Given the description of an element on the screen output the (x, y) to click on. 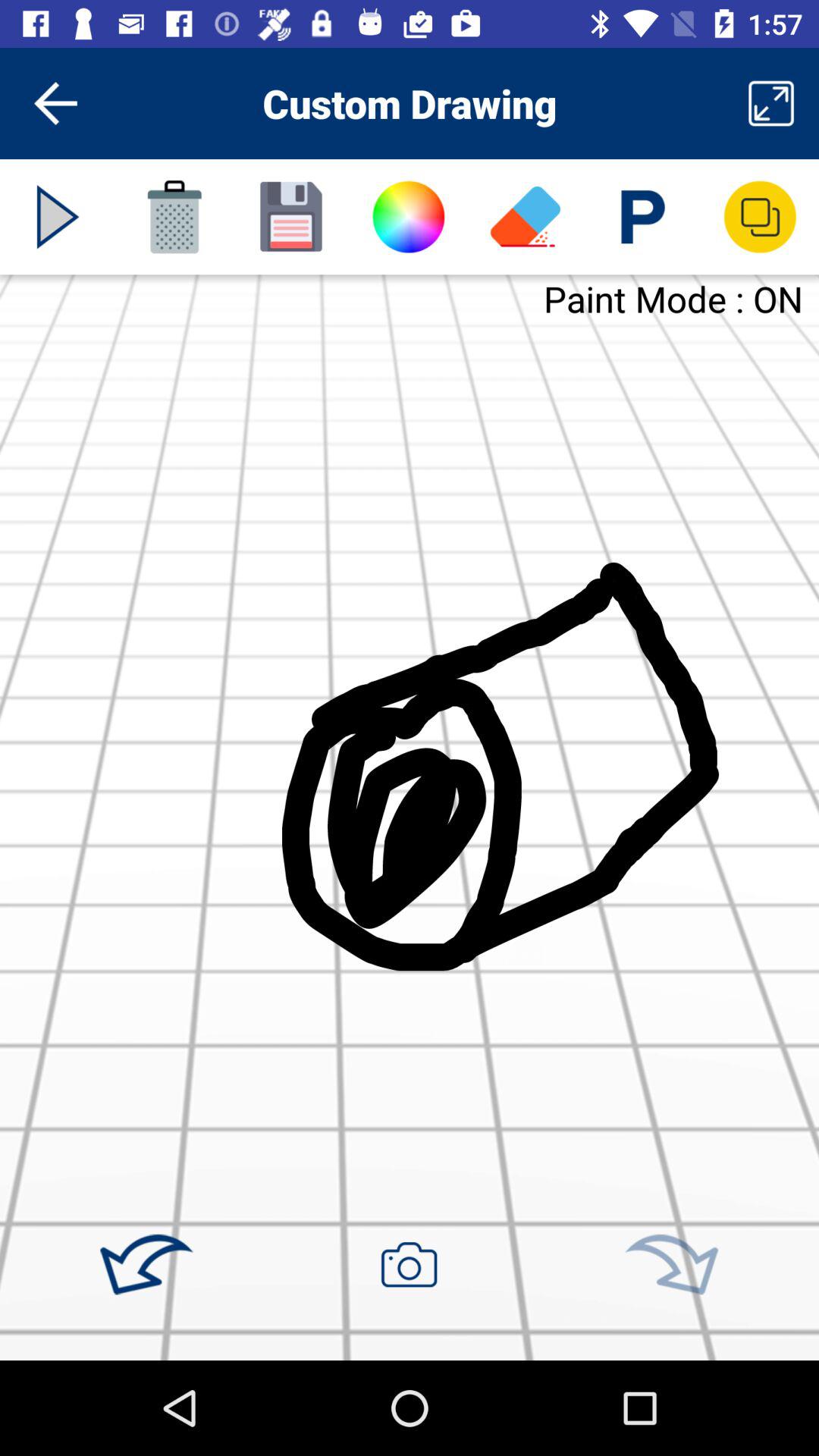
turn off the icon below custom drawing (291, 216)
